Given the description of an element on the screen output the (x, y) to click on. 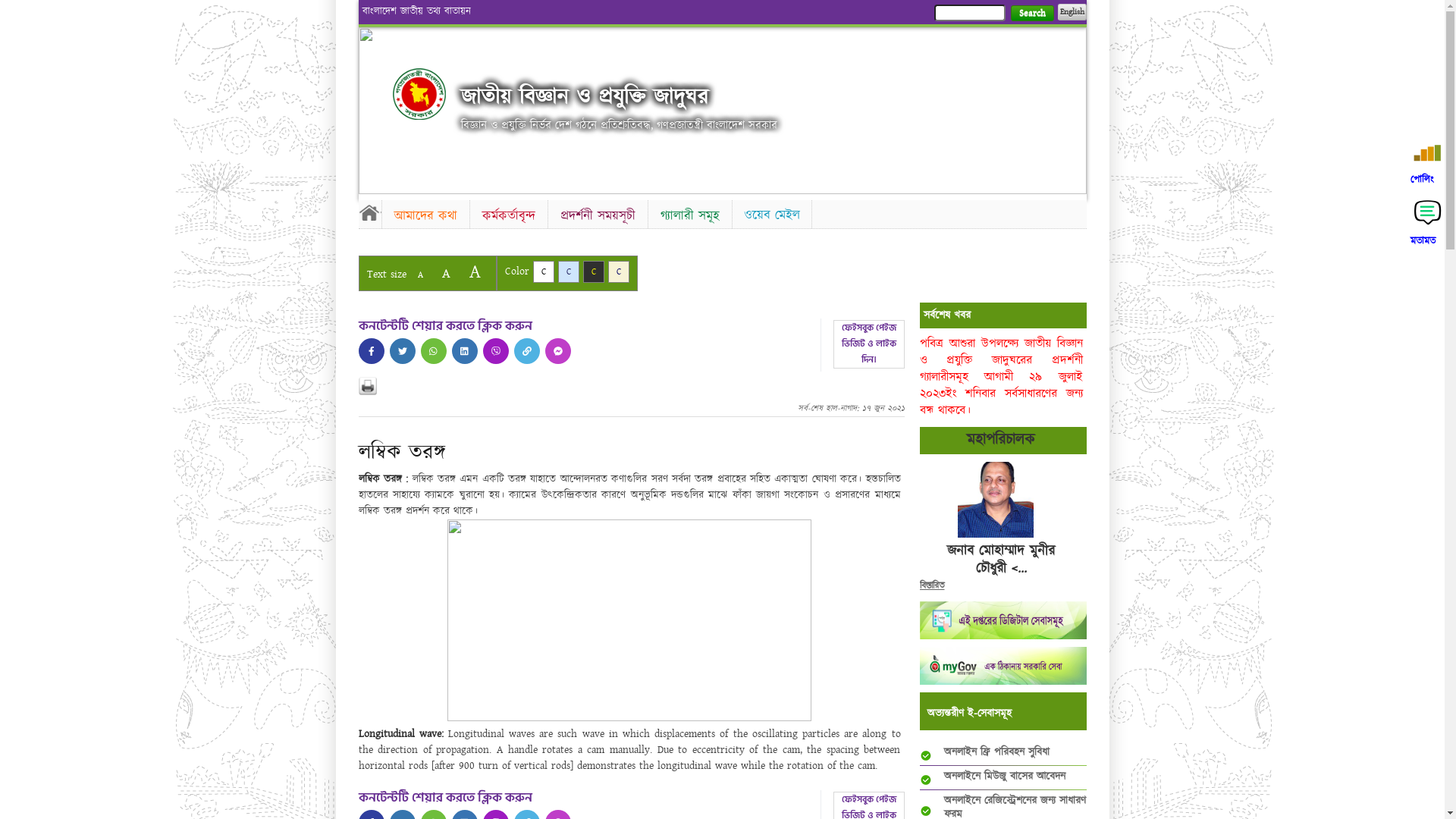
C Element type: text (542, 271)
Home Element type: hover (368, 211)
A Element type: text (474, 271)
C Element type: text (592, 271)
A Element type: text (419, 274)
C Element type: text (618, 271)
A Element type: text (445, 273)
Home Element type: hover (418, 93)
English Element type: text (1071, 11)
C Element type: text (568, 271)
Search Element type: text (1031, 13)
